Given the description of an element on the screen output the (x, y) to click on. 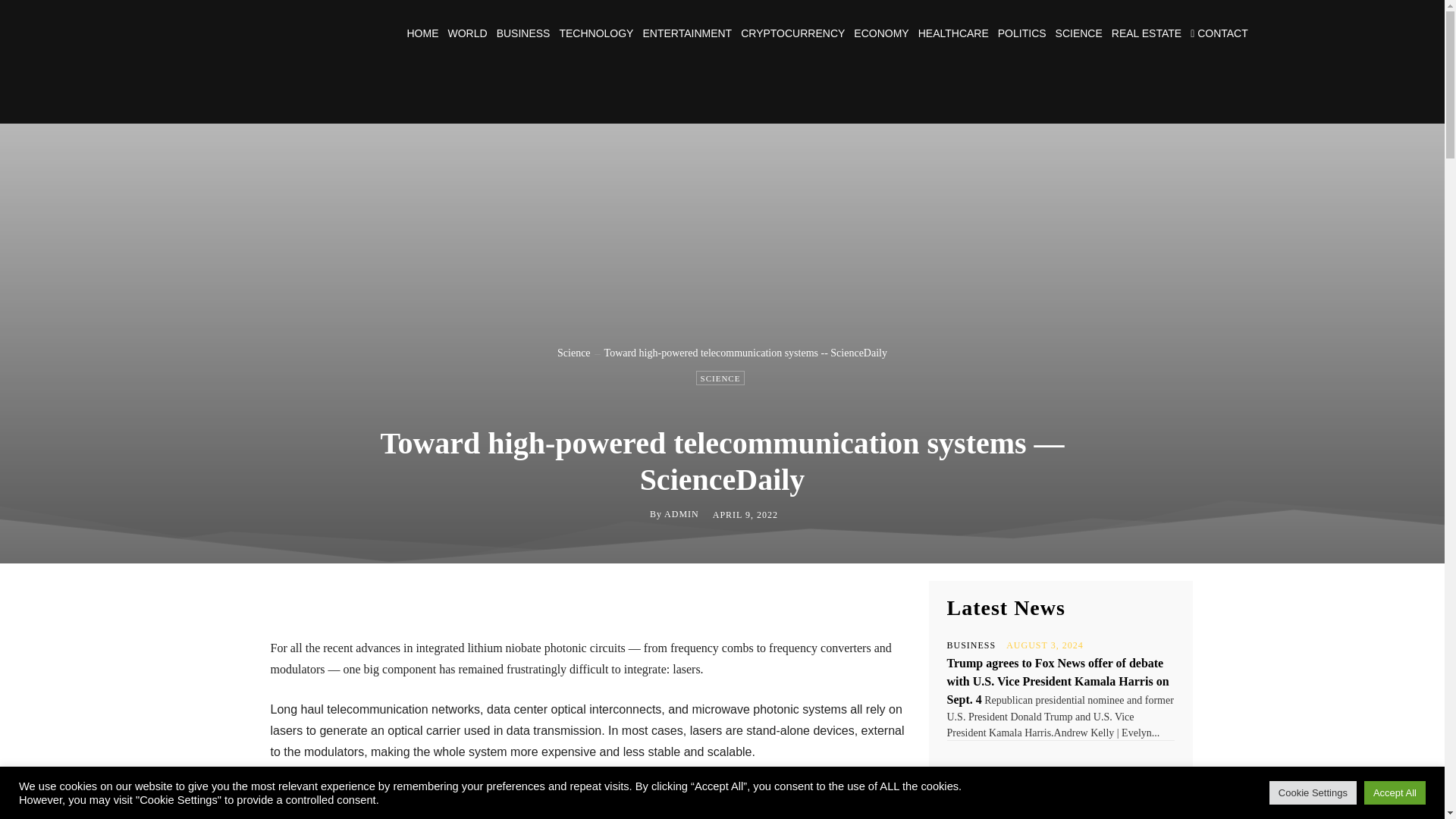
CRYPTOCURRENCY (792, 33)
CONTACT (1219, 33)
ENTERTAINMENT (687, 33)
Science (574, 352)
TECHNOLOGY (596, 33)
REAL ESTATE (1146, 33)
SCIENCE (1078, 33)
ECONOMY (880, 33)
HEALTHCARE (953, 33)
BUSINESS (523, 33)
ADMIN (680, 513)
SCIENCE (720, 377)
WORLD (466, 33)
POLITICS (1021, 33)
